Given the description of an element on the screen output the (x, y) to click on. 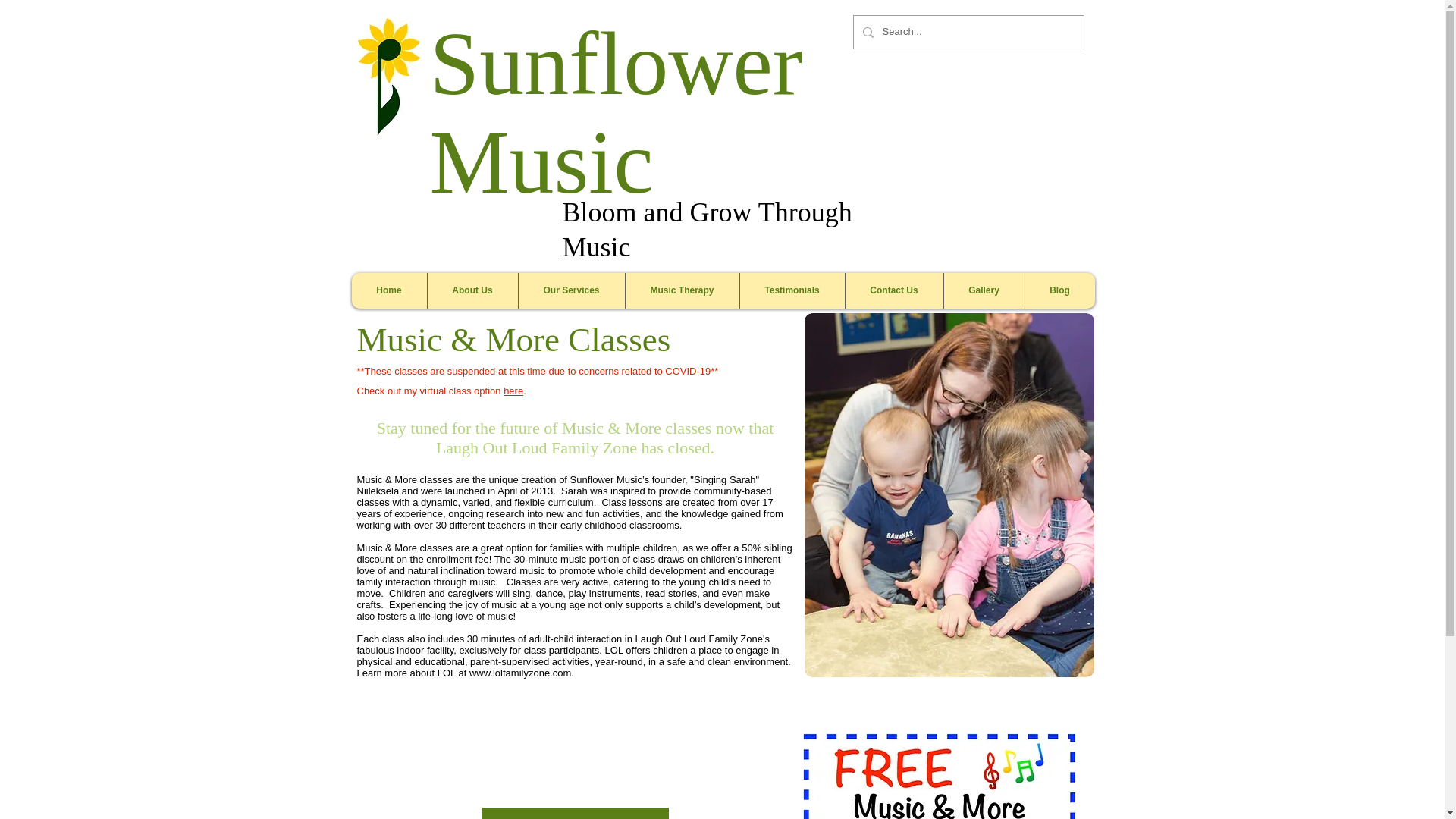
Our Services (570, 290)
Music Therapy (681, 290)
Gallery (984, 290)
About Us (471, 290)
Home (389, 290)
here (512, 390)
ENROLL ONLINE NOW! (574, 813)
www.lolfamilyzone.com (519, 672)
Contact Us (893, 290)
Testimonials (791, 290)
